Given the description of an element on the screen output the (x, y) to click on. 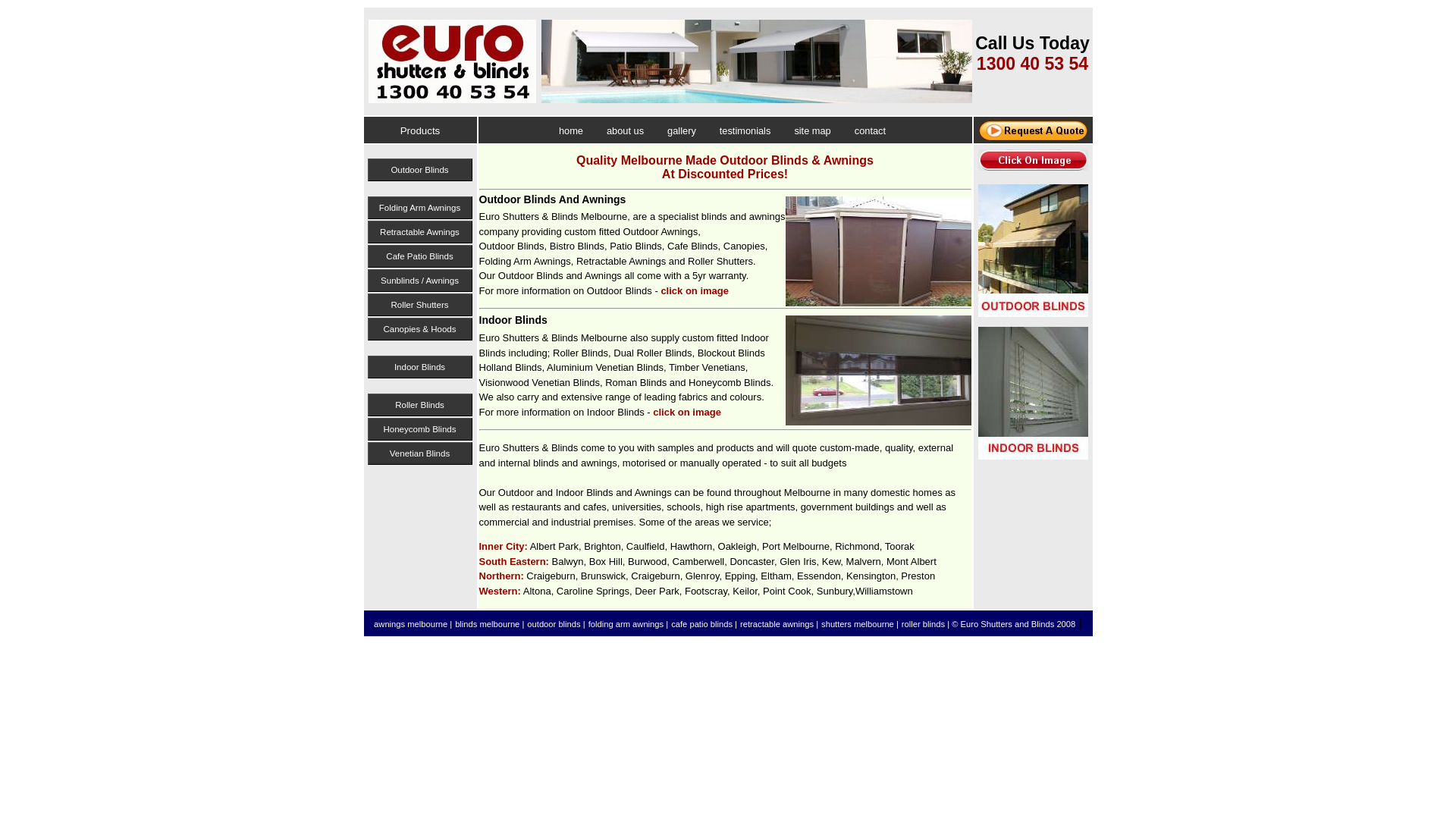
roller blinds Element type: text (924, 623)
about us Element type: text (625, 129)
retractable awnings | Element type: text (779, 623)
Sunblinds / Awnings Element type: text (419, 280)
Outdoor Blinds Element type: text (419, 169)
blinds melbourne | Element type: text (489, 623)
Folding Arm Awnings Element type: text (419, 207)
Roller Blinds Element type: text (419, 404)
home Element type: text (570, 129)
outdoor blinds | Element type: text (555, 623)
folding arm awnings | Element type: text (628, 623)
gallery Element type: text (681, 129)
shutters melbourne | Element type: text (859, 623)
site map Element type: text (811, 129)
Roller Shutters Element type: text (419, 304)
contact Element type: text (870, 129)
Canopies & Hoods Element type: text (419, 328)
Retractable Awnings Element type: text (419, 231)
awnings melbourne | Element type: text (412, 623)
cafe patio blinds | Element type: text (704, 623)
Cafe Patio Blinds Element type: text (419, 255)
Venetian Blinds Element type: text (419, 453)
Indoor Blinds Element type: text (419, 366)
testimonials Element type: text (745, 129)
Honeycomb Blinds Element type: text (419, 428)
